Given the description of an element on the screen output the (x, y) to click on. 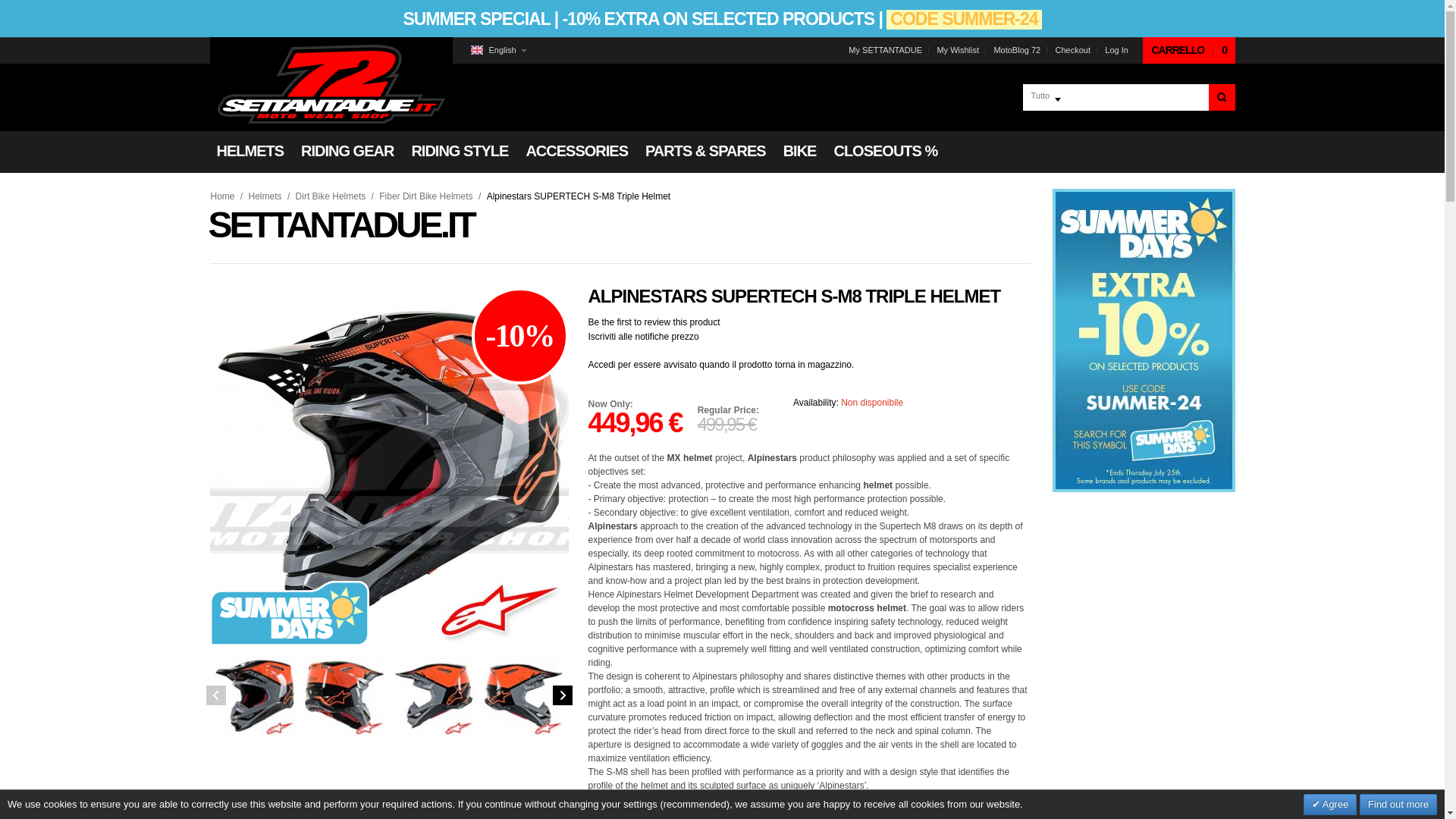
My SETTANTADUE (885, 49)
Motorcycle Helmets, Motorcycle Clothing and Accessories (330, 82)
SETTANTADUE.IT Abbigliamento e Caschi Moto (330, 84)
MotoBlog 72 (1016, 49)
MotoBlog 72 (1016, 49)
Checkout (1072, 49)
My Wishlist (957, 49)
Log In (1116, 49)
Checkout (1072, 49)
CARRELLO0 (1188, 49)
HELMETS (249, 151)
CERCA (1221, 97)
My SETTANTADUE (885, 49)
My Wishlist (957, 49)
Cerca (1221, 97)
